Given the description of an element on the screen output the (x, y) to click on. 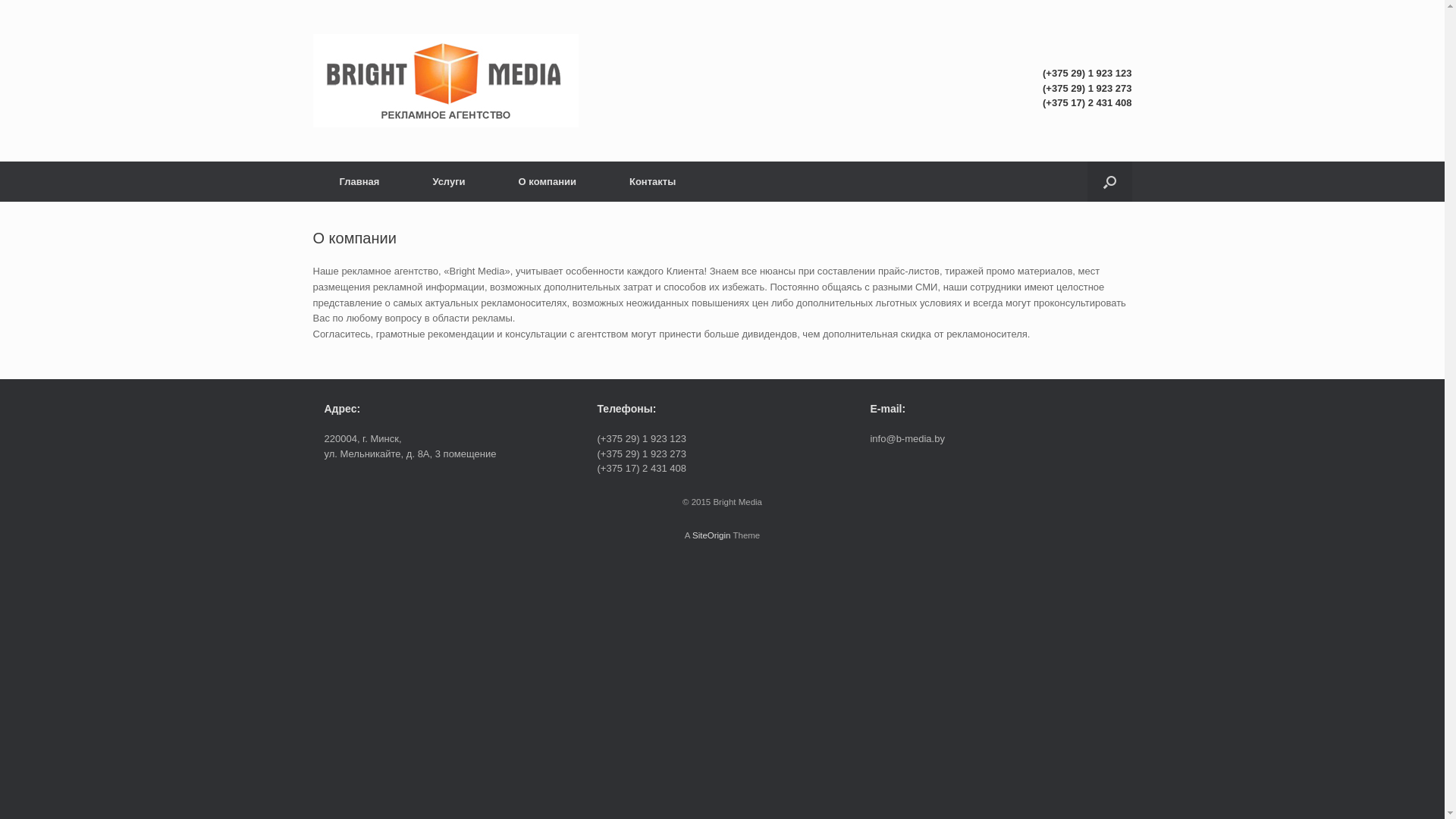
SiteOrigin Element type: text (711, 534)
Bright Media Element type: hover (444, 80)
